Given the description of an element on the screen output the (x, y) to click on. 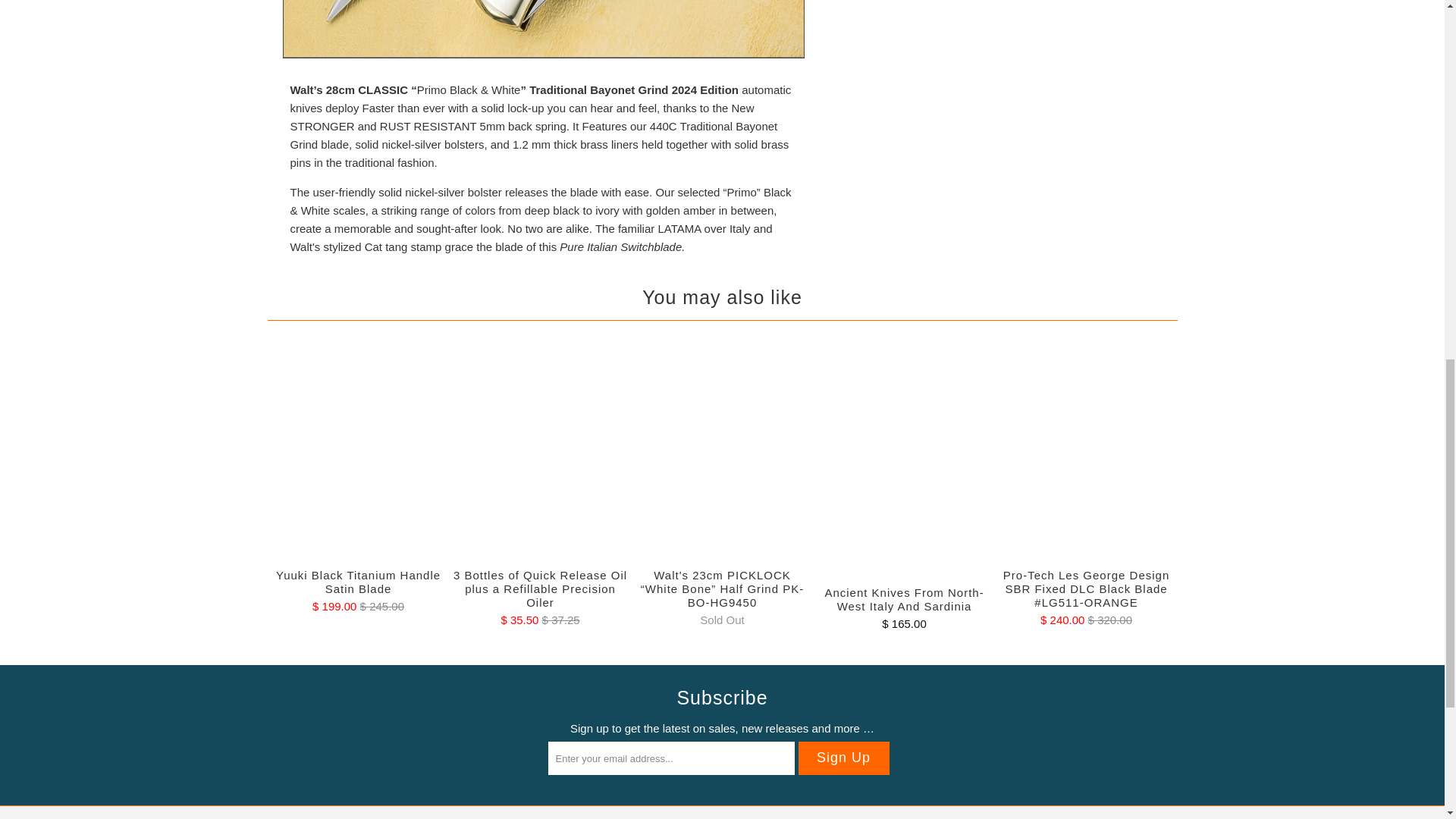
Sign Up (842, 758)
